Given the description of an element on the screen output the (x, y) to click on. 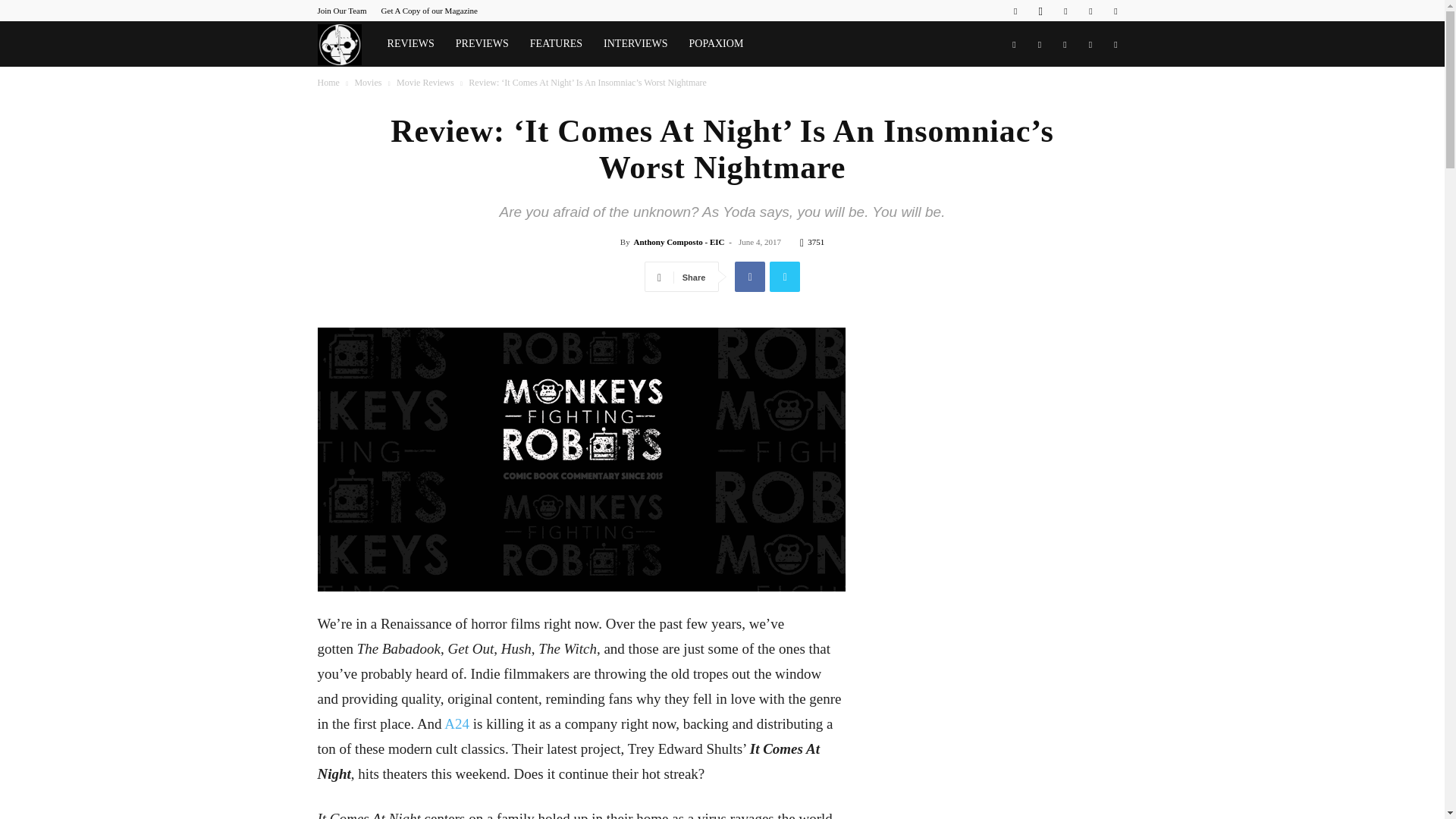
Youtube (1114, 10)
Facebook (1015, 10)
Anthony Composto - EIC (678, 241)
Twitter (1090, 10)
Join Our Team (341, 10)
PREVIEWS (482, 43)
REVIEWS (411, 43)
Home (328, 81)
Reddit (1065, 10)
Instagram (1040, 10)
Monkeys Fighting Robots (346, 44)
POPAXIOM (716, 43)
INTERVIEWS (635, 43)
Get A Copy of our Magazine (429, 10)
Movies (367, 81)
